Given the description of an element on the screen output the (x, y) to click on. 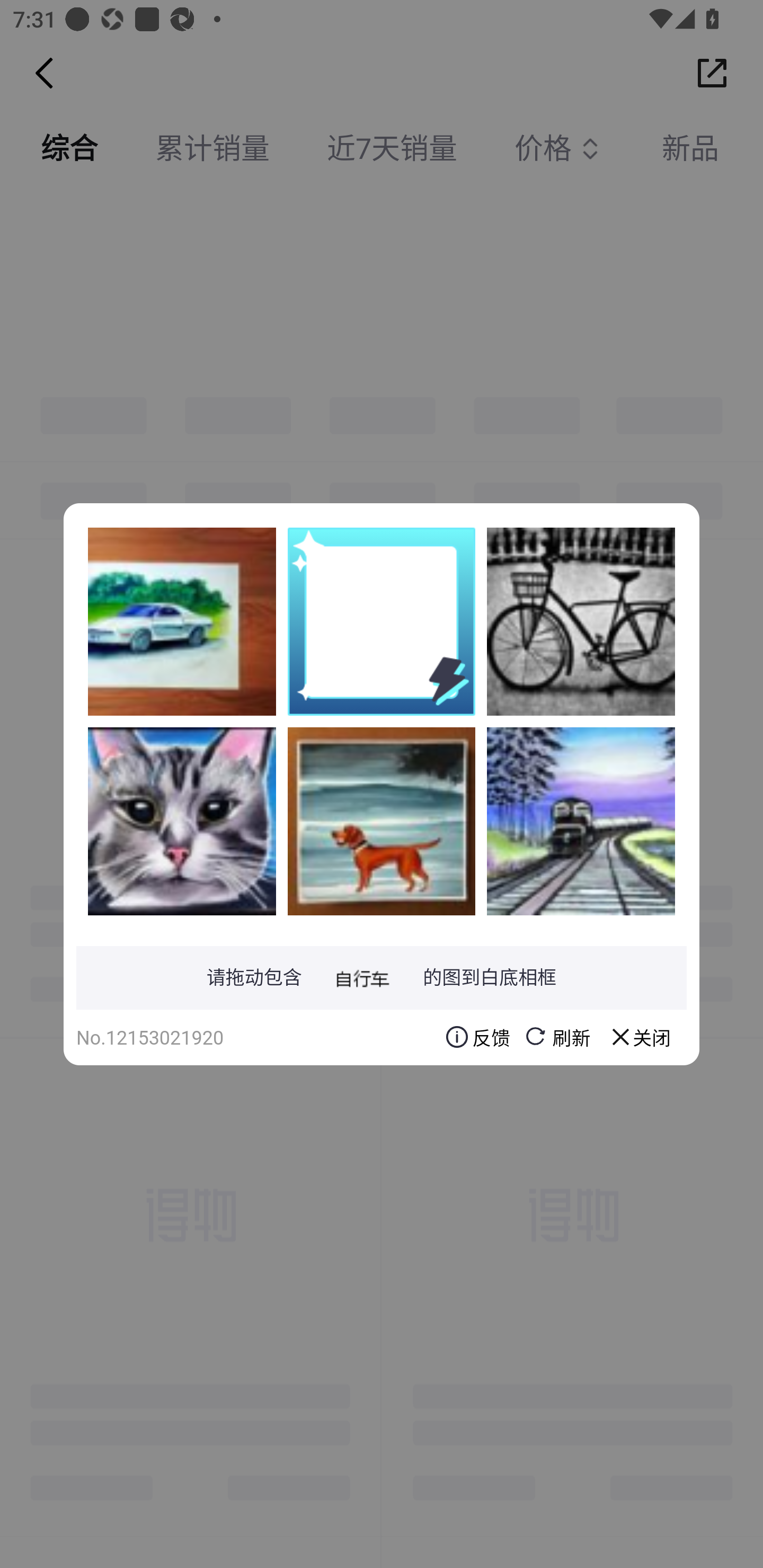
Q20aqpefHG0mbIinIDa96sdPX (580, 621)
bdrFmxhsXzl8jtWhYvWs (181, 820)
